Given the description of an element on the screen output the (x, y) to click on. 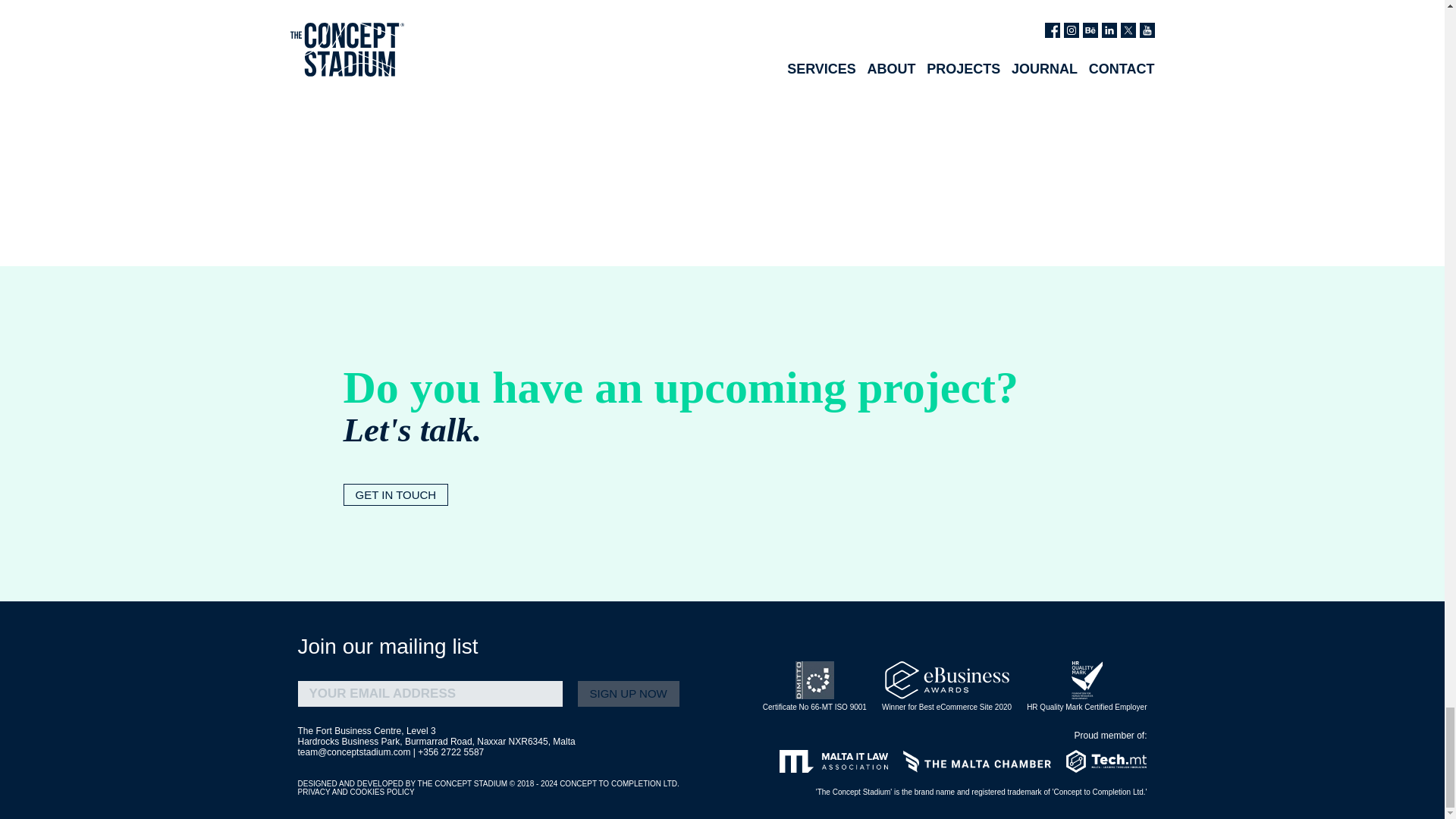
Winner for Best eCommerce Site 2020 (946, 685)
sign up now (628, 693)
PRIVACY AND COOKIES POLICY (355, 791)
sign up now (628, 693)
HR Quality Mark Certified Employer (1086, 685)
GET IN TOUCH (395, 495)
Certificate No 66-MT ISO 9001 (814, 685)
